Given the description of an element on the screen output the (x, y) to click on. 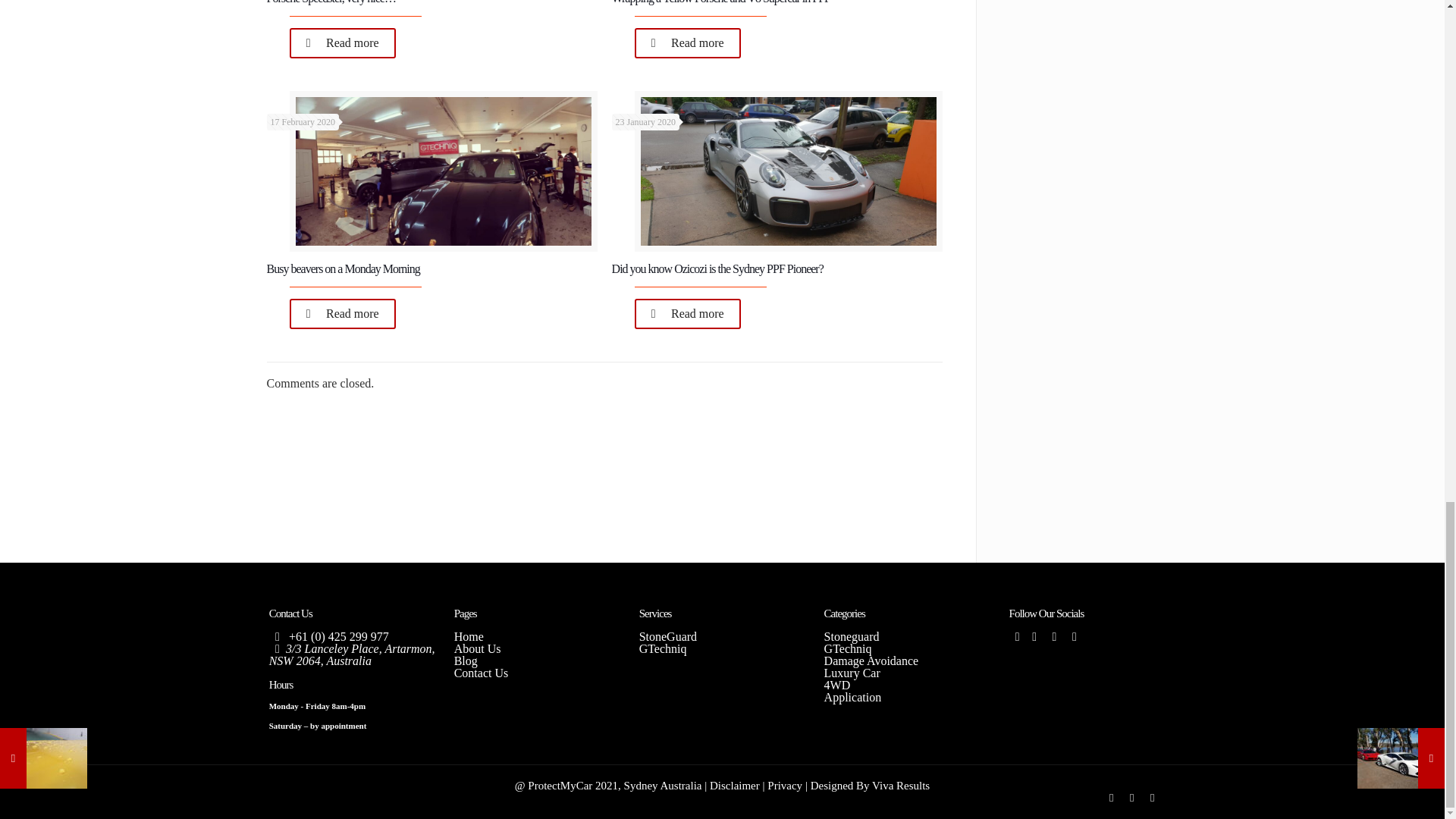
Twitter (1034, 635)
Instagram (1152, 797)
YouTube (1132, 797)
Instagram (1053, 635)
Facebook (1111, 797)
Youtube (1074, 635)
Facebook (1017, 635)
